Given the description of an element on the screen output the (x, y) to click on. 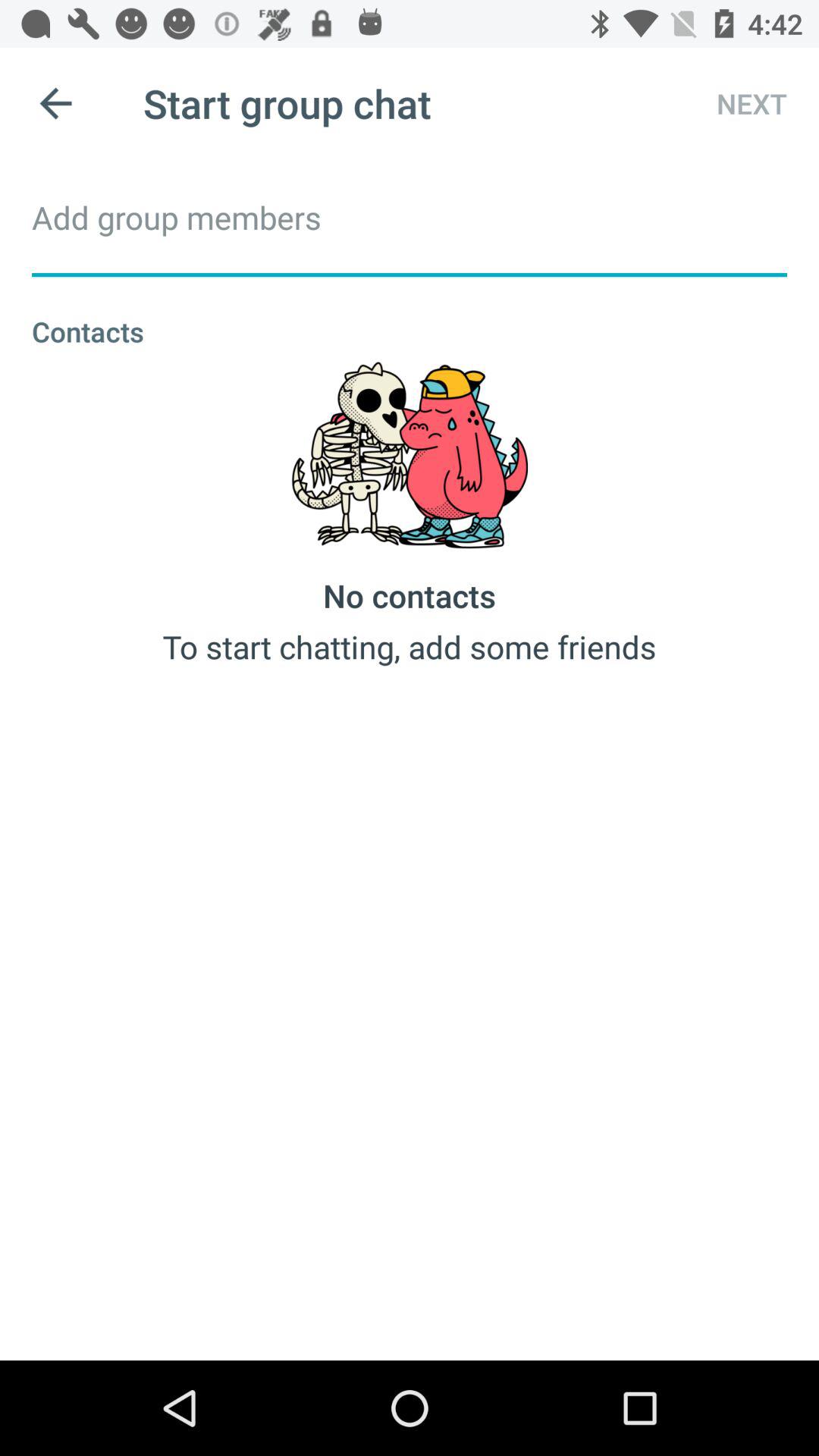
turn off icon to the left of start group chat (55, 103)
